Given the description of an element on the screen output the (x, y) to click on. 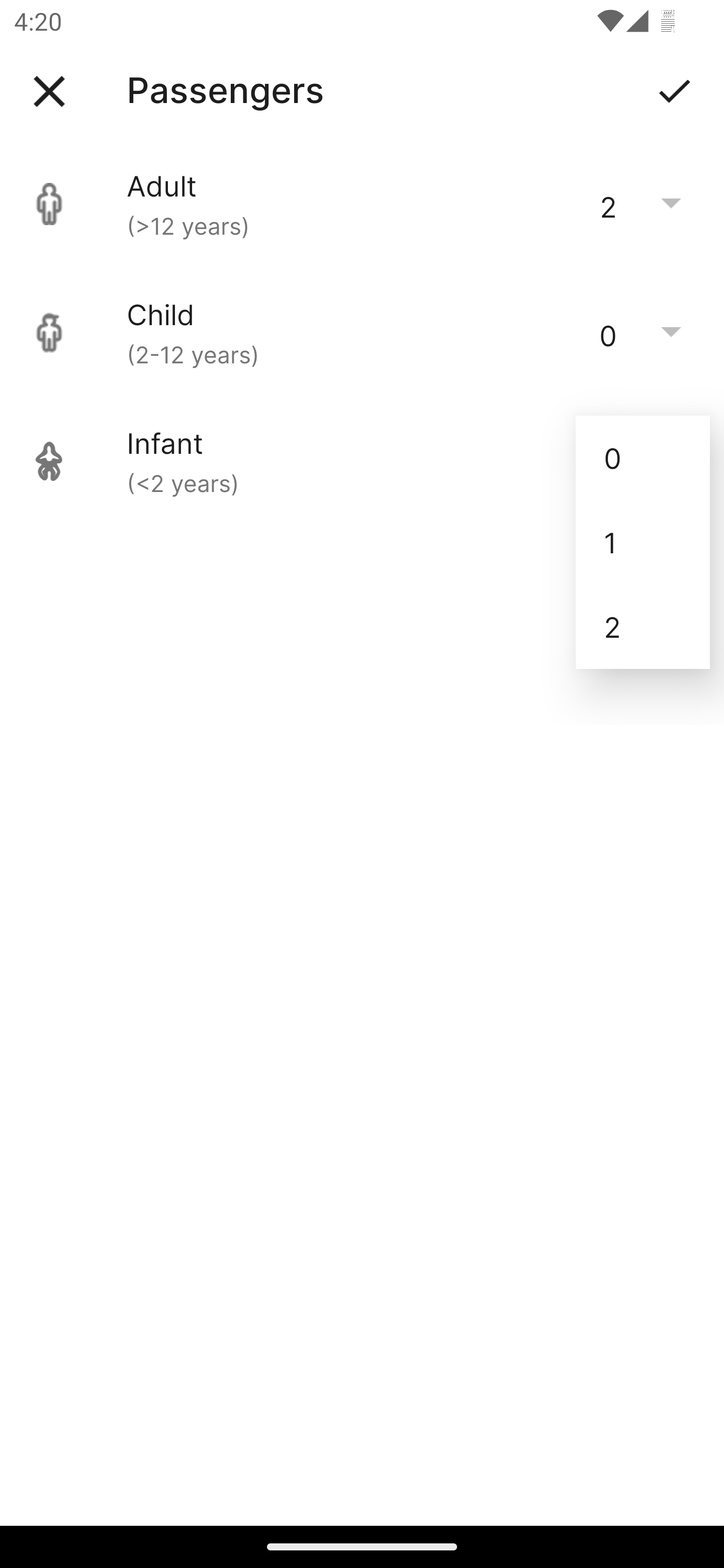
0 (642, 457)
1 (642, 542)
2 (642, 626)
